Given the description of an element on the screen output the (x, y) to click on. 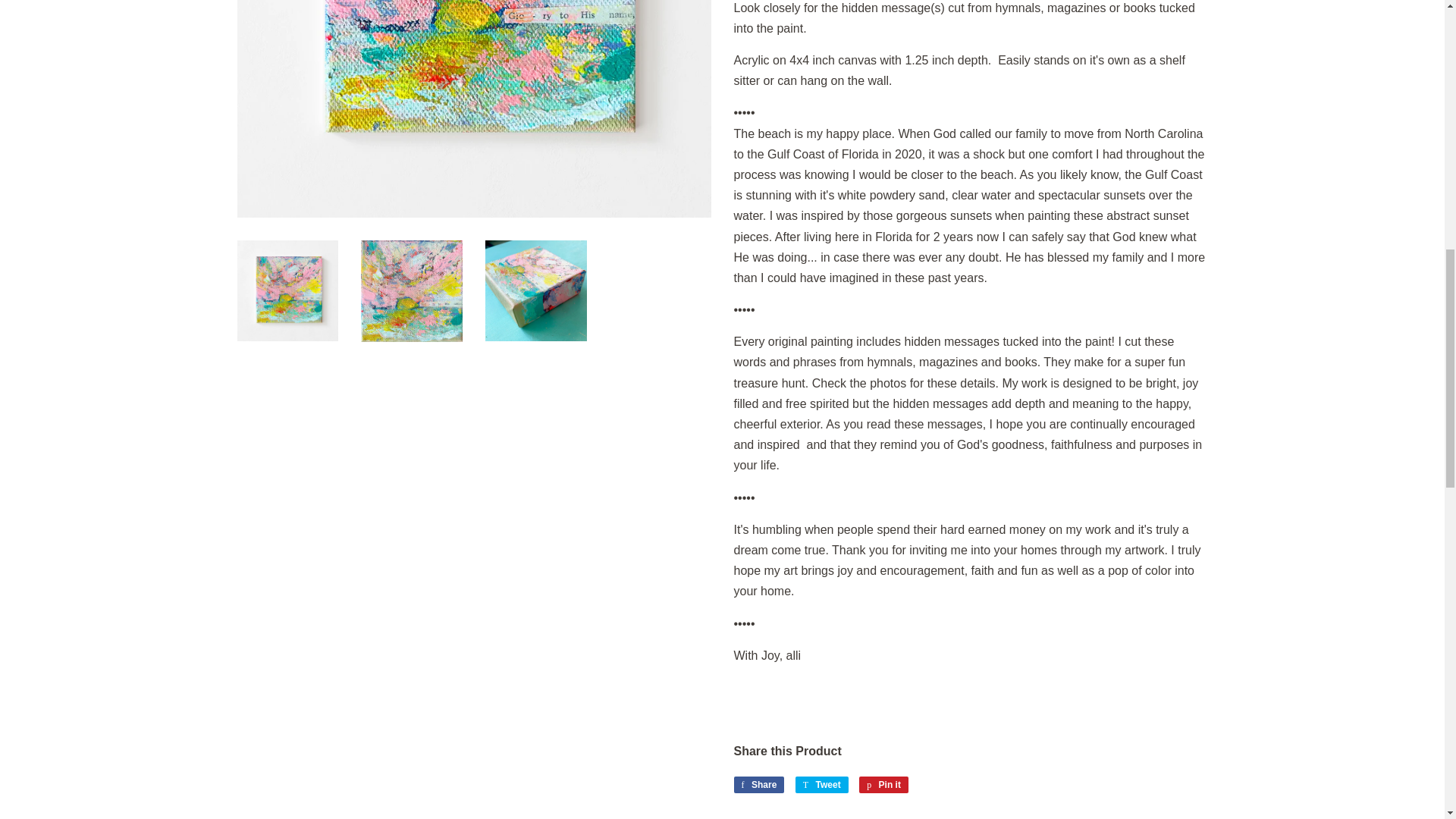
Share on Facebook (758, 784)
Tweet on Twitter (821, 784)
Pin on Pinterest (883, 784)
